Given the description of an element on the screen output the (x, y) to click on. 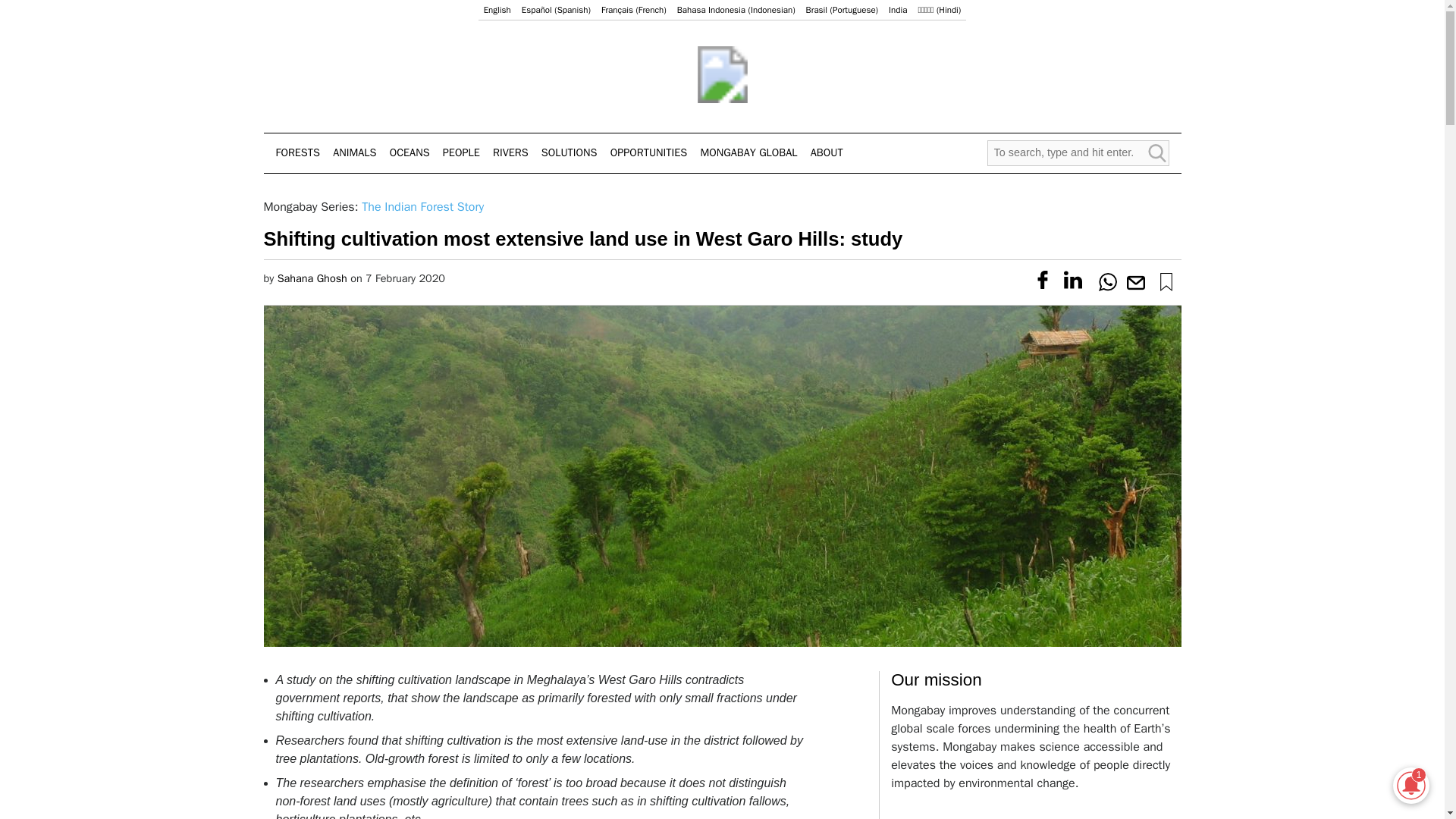
Sahana Ghosh (312, 278)
MONGABAY GLOBAL (748, 153)
ANIMALS (354, 153)
PEOPLE (461, 153)
English (497, 9)
The Indian Forest Story (422, 206)
OCEANS (409, 153)
FORESTS (298, 153)
SOLUTIONS (568, 153)
India (897, 9)
OPPORTUNITIES (648, 153)
RIVERS (510, 153)
ABOUT (826, 153)
